Given the description of an element on the screen output the (x, y) to click on. 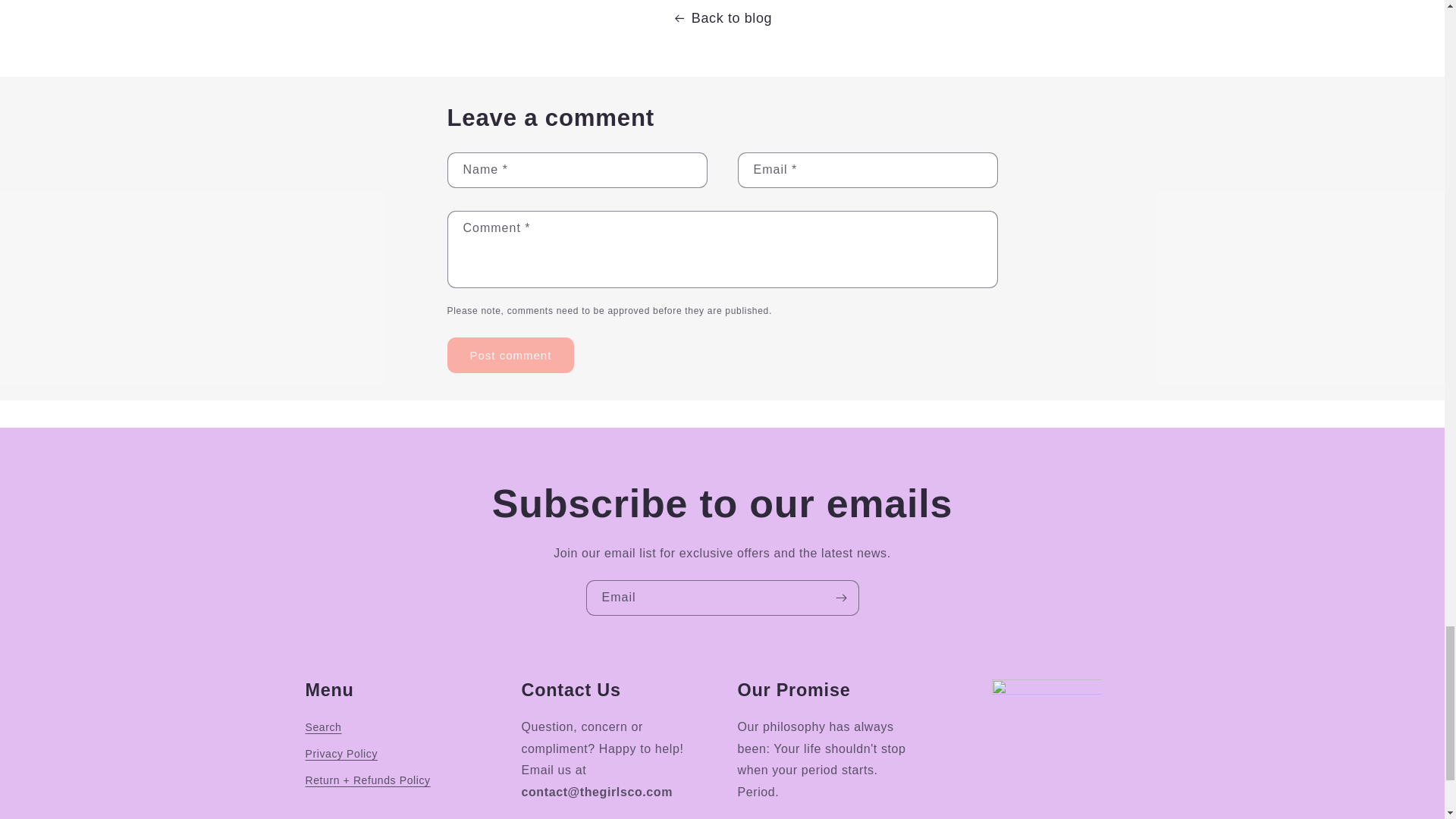
Post comment (510, 355)
Post comment (510, 355)
